Given the description of an element on the screen output the (x, y) to click on. 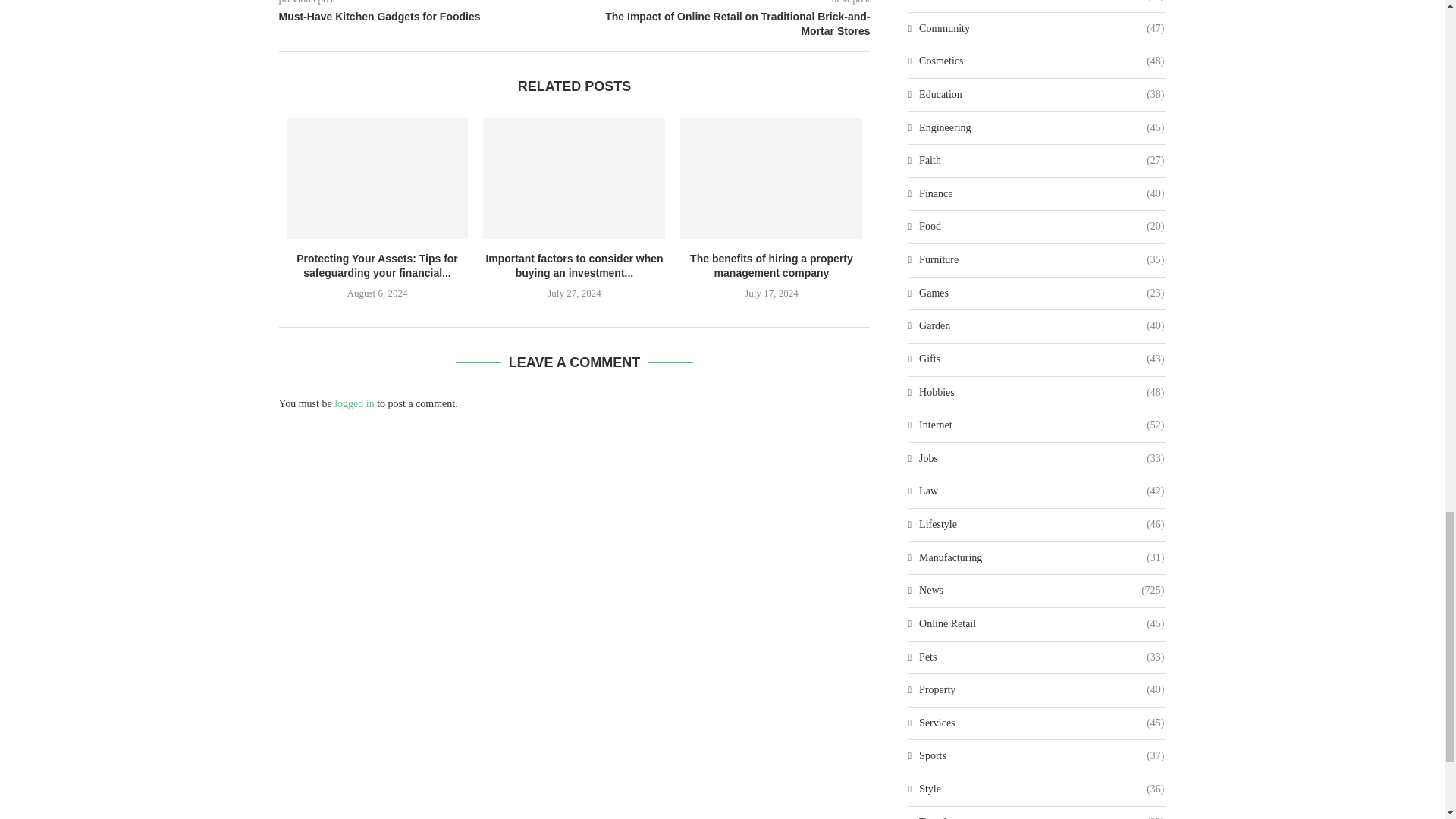
The benefits of hiring a property management company (770, 178)
